Given the description of an element on the screen output the (x, y) to click on. 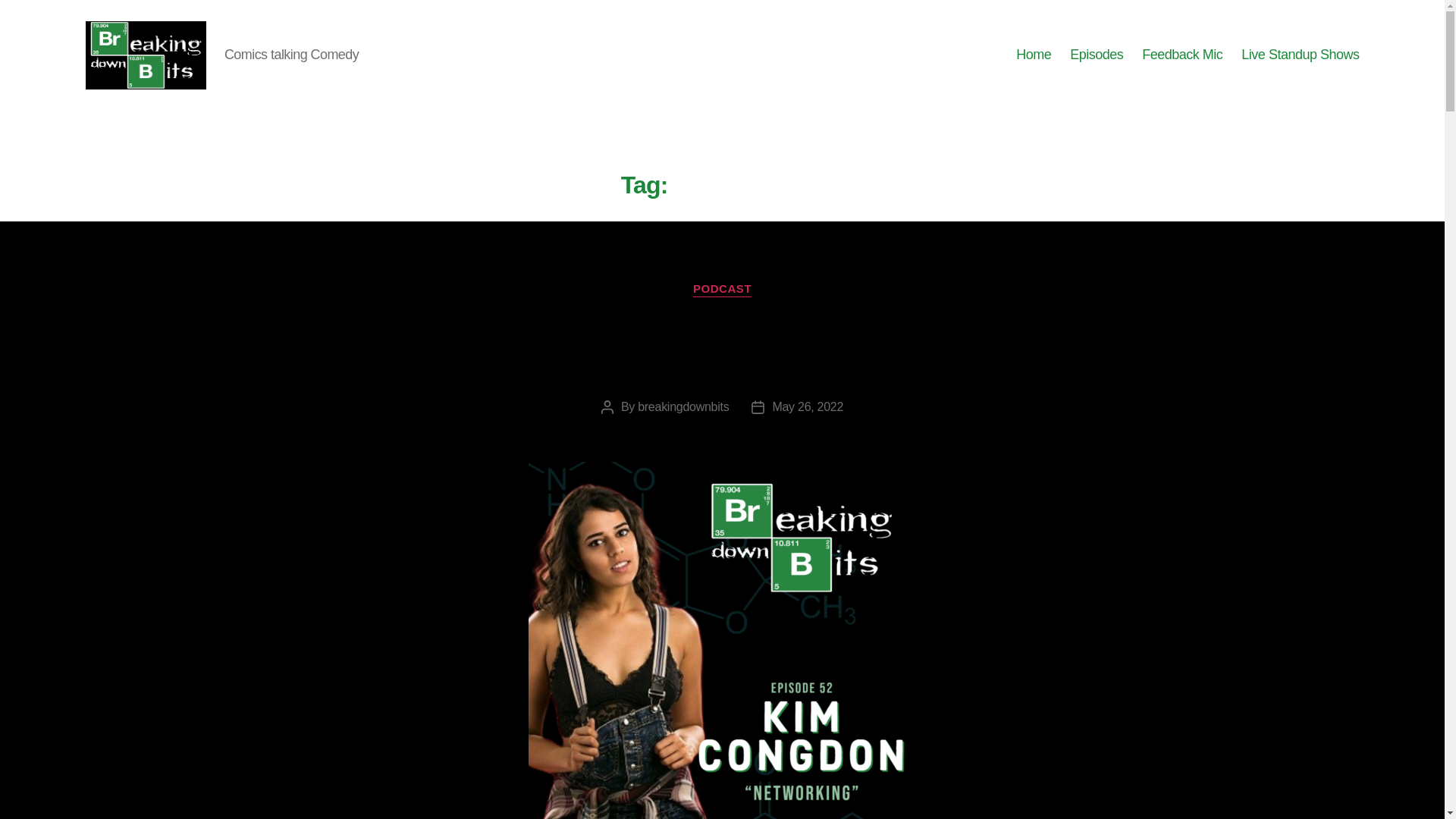
Home (1033, 54)
PODCAST (722, 289)
Feedback Mic (1182, 54)
Live Standup Shows (1299, 54)
May 26, 2022 (807, 406)
breakingdownbits (683, 406)
Episodes (1096, 54)
